Given the description of an element on the screen output the (x, y) to click on. 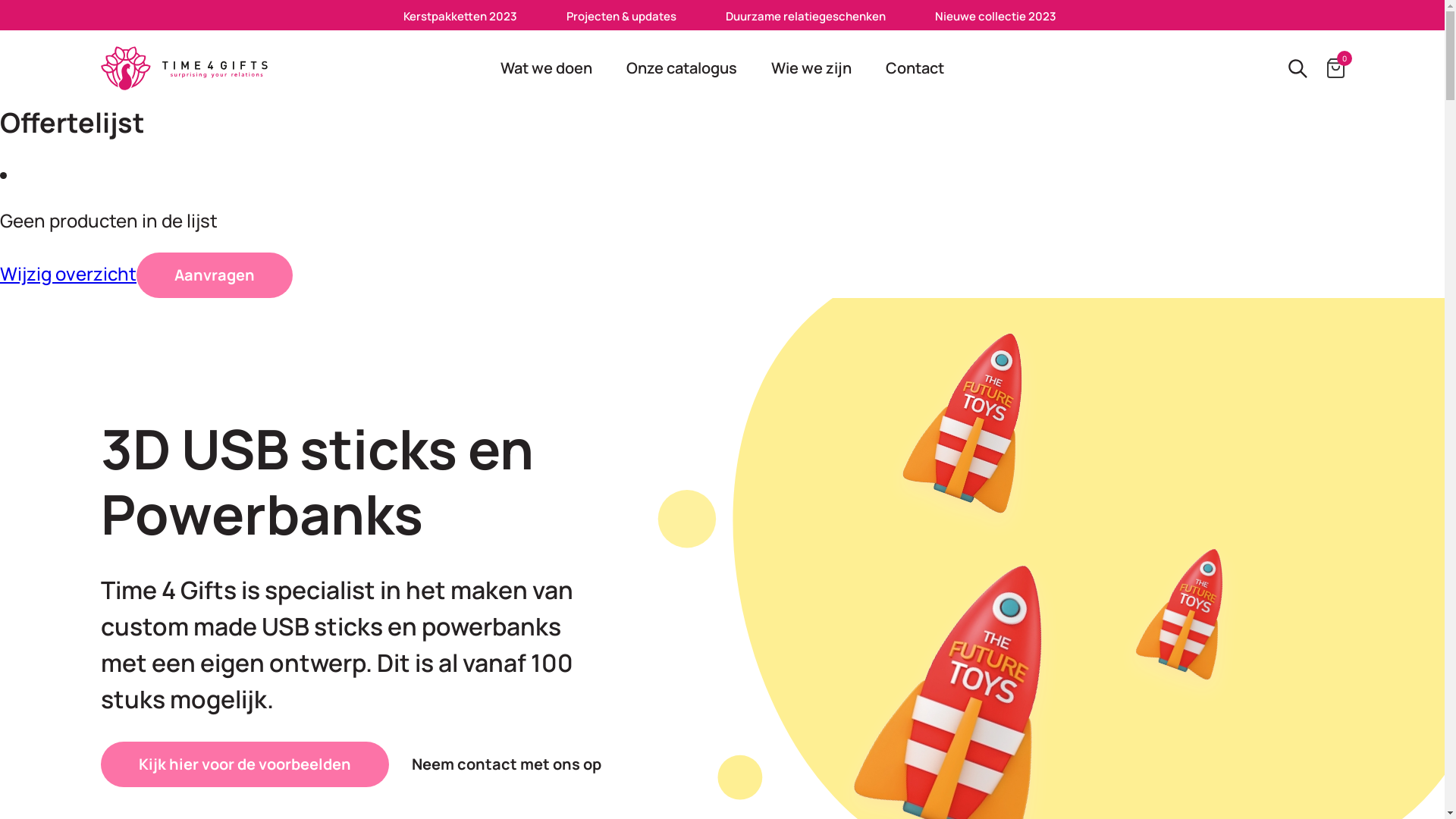
Skip to main content Element type: text (0, 0)
Wat we doen Element type: text (546, 67)
Wijzig overzicht Element type: text (68, 272)
Aanvragen Element type: text (214, 275)
Onze catalogus Element type: text (681, 67)
Kerstpakketten 2023 Element type: text (460, 16)
Nieuwe collectie 2023 Element type: text (995, 16)
Kijk hier voor de voorbeelden Element type: text (244, 764)
Neem contact met ons op Element type: text (505, 763)
Duurzame relatiegeschenken Element type: text (805, 16)
Projecten & updates Element type: text (621, 16)
0 Element type: text (1335, 67)
Contact Element type: text (914, 67)
Wie we zijn Element type: text (811, 67)
